Given the description of an element on the screen output the (x, y) to click on. 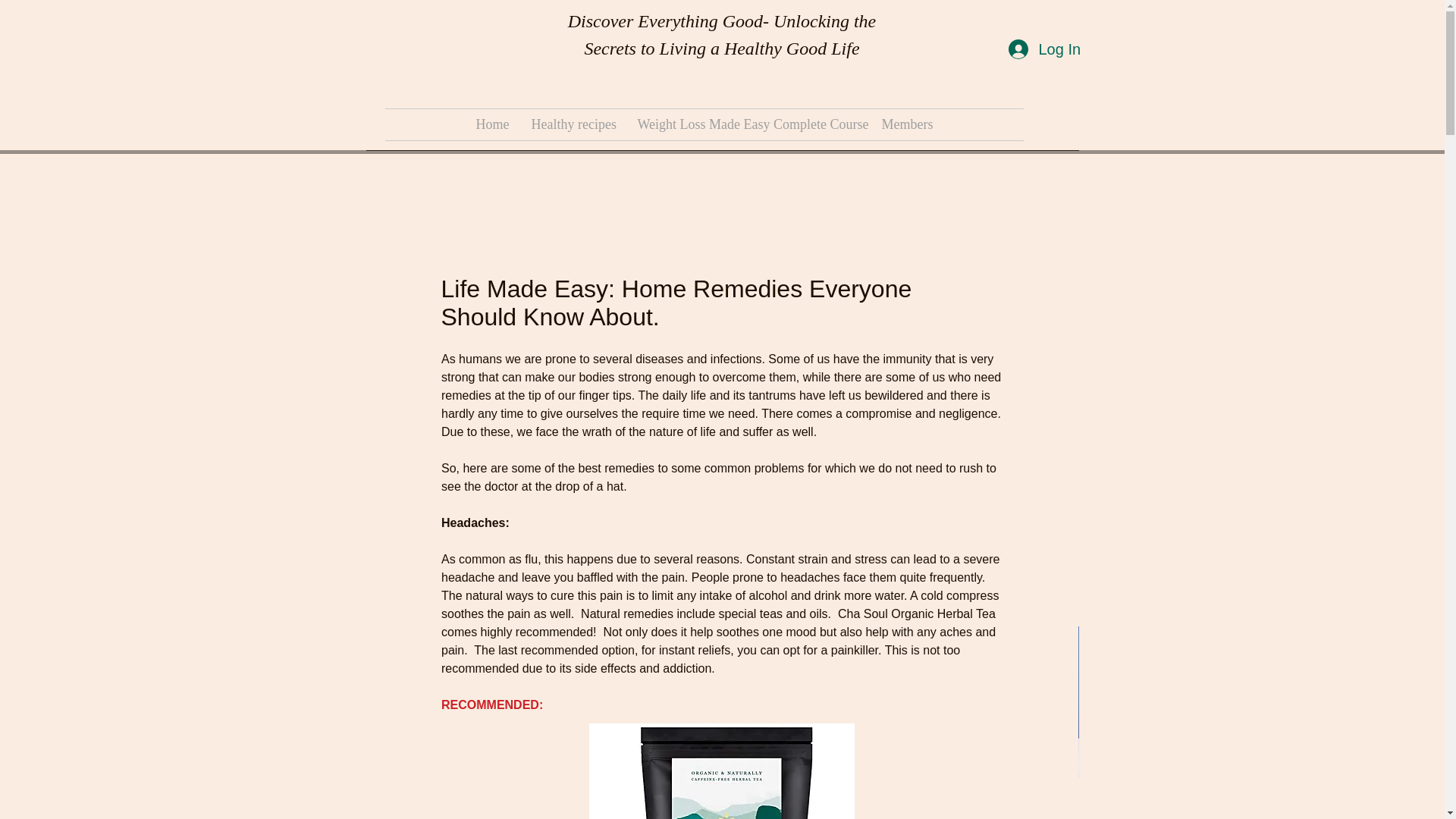
Members (906, 124)
Weight Loss Made Easy Complete Course (748, 124)
Poison known as sugar: 5 Ways Sugar is Killing You (721, 809)
Food For Thought: Healthy Food For Mental Clarity (964, 809)
Healthy recipes (572, 124)
Home (491, 124)
Log In (1043, 49)
